Given the description of an element on the screen output the (x, y) to click on. 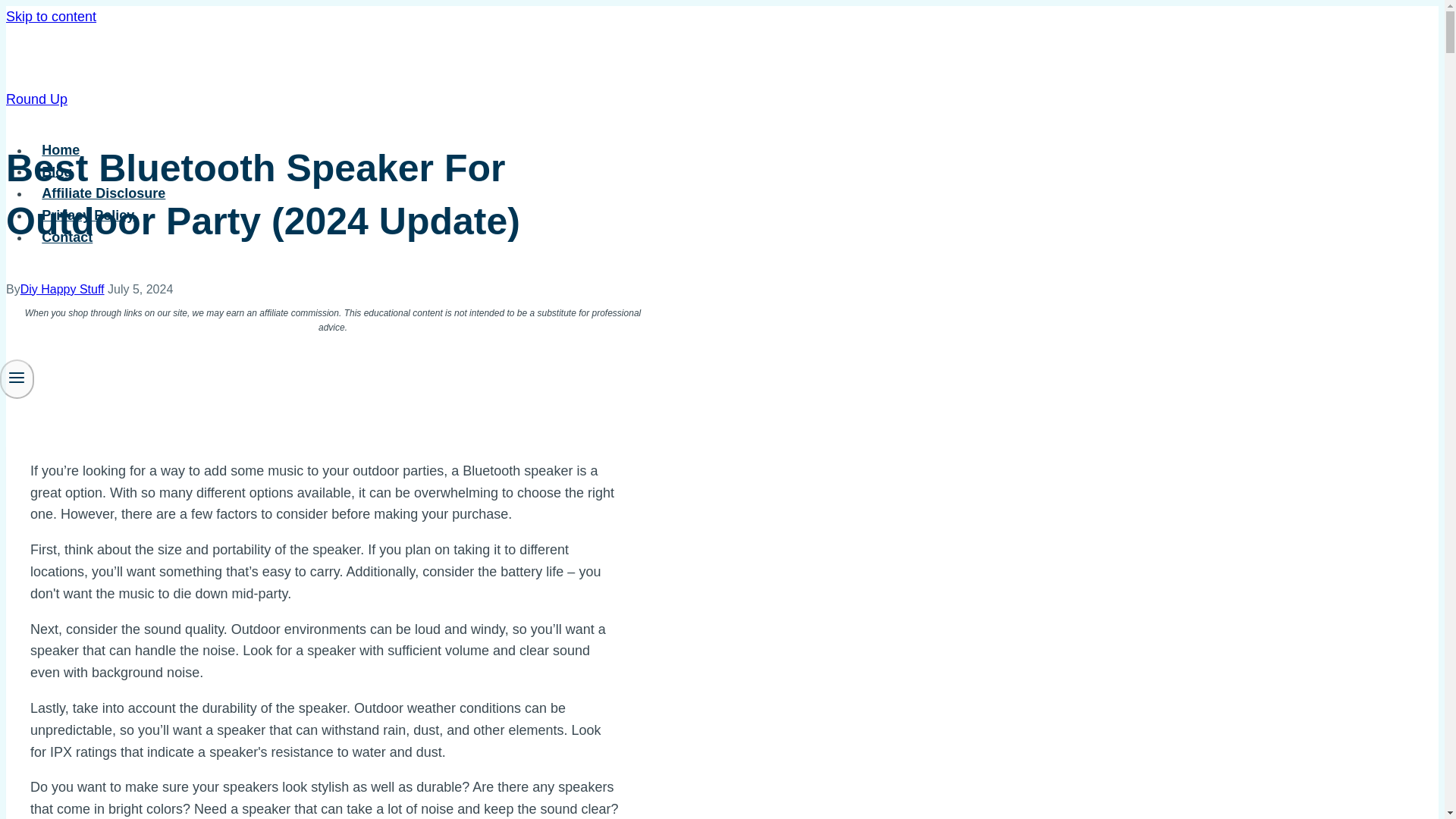
Skip to content (50, 16)
Toggle Menu (16, 377)
Contact (67, 237)
Home (60, 150)
Skip to content (50, 16)
Blog (57, 172)
Round Up (35, 99)
Affiliate Disclosure (103, 193)
Privacy Policy (88, 214)
Diy Happy Stuff (62, 288)
